Given the description of an element on the screen output the (x, y) to click on. 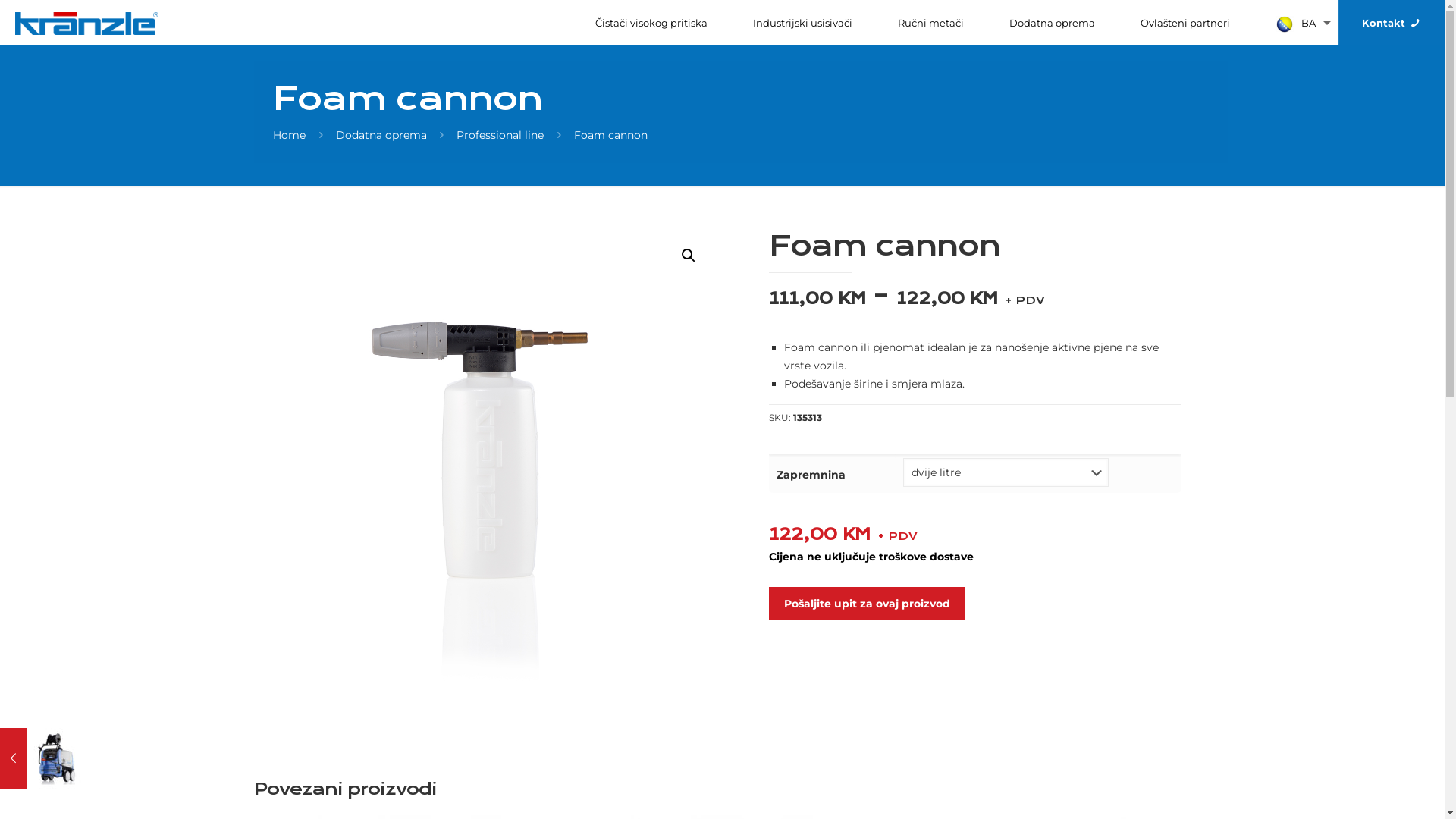
Home Element type: text (289, 134)
Dodatna oprema Element type: text (380, 134)
Dodatna oprema Element type: text (1051, 22)
Kranzle Element type: hover (86, 22)
Kontakt Element type: text (1391, 22)
Dodatna-oprema-foam-cannon-2l.jpg Element type: hover (487, 455)
BA Element type: text (1295, 22)
Professional line Element type: text (499, 134)
